Given the description of an element on the screen output the (x, y) to click on. 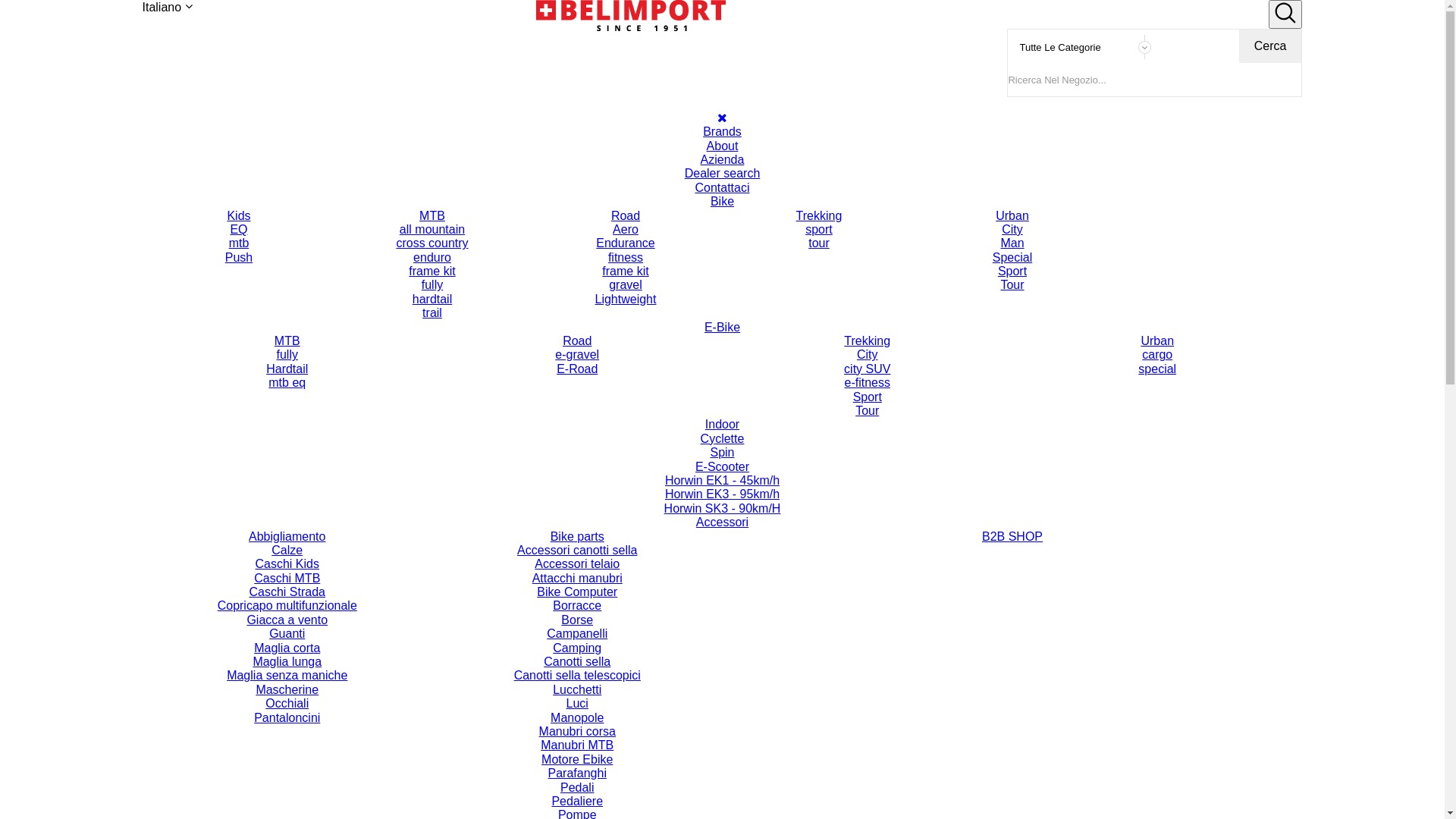
Accessori canotti sella Element type: text (577, 550)
Camping Element type: text (577, 648)
e-fitness Element type: text (867, 382)
Push Element type: text (238, 257)
mtb eq Element type: text (286, 382)
Horwin EK3 - 95km/h Element type: text (722, 494)
Attacchi manubri Element type: text (577, 578)
City Element type: text (1011, 229)
city SUV Element type: text (867, 369)
Caschi Strada Element type: text (286, 592)
Urban Element type: text (1011, 215)
Special Element type: text (1011, 257)
Sport Element type: text (867, 397)
sport Element type: text (819, 229)
Tour Element type: text (1011, 284)
cross country Element type: text (432, 243)
MTB Element type: text (432, 215)
Guanti Element type: text (286, 633)
fully Element type: text (432, 284)
all mountain Element type: text (432, 229)
Tour Element type: text (867, 410)
Canotti sella telescopici Element type: text (577, 675)
Bike parts Element type: text (577, 535)
Azienda Element type: text (721, 159)
Calze Element type: text (286, 550)
Copricapo multifunzionale Element type: text (286, 605)
mtb Element type: text (238, 243)
Pantaloncini Element type: text (286, 717)
Man Element type: text (1011, 243)
gravel Element type: text (624, 284)
Dealer search Element type: text (721, 173)
Cerca Element type: text (1270, 45)
Campanelli Element type: text (577, 633)
Accessori telaio Element type: text (577, 564)
EQ Element type: text (238, 229)
E-Road Element type: text (577, 369)
Road Element type: text (624, 215)
Brands Element type: text (722, 131)
Bike Computer Element type: text (577, 592)
Horwin EK1 - 45km/h Element type: text (722, 480)
Maglia corta Element type: text (286, 648)
Maglia senza maniche Element type: text (286, 675)
Sport Element type: text (1011, 271)
Horwin SK3 - 90km/H Element type: text (722, 508)
Road Element type: text (577, 341)
Caschi MTB Element type: text (286, 578)
fitness Element type: text (624, 257)
Endurance Element type: text (624, 243)
Trekking Element type: text (819, 215)
Manubri MTB Element type: text (577, 745)
Caschi Kids Element type: text (286, 564)
trail Element type: text (432, 313)
Indoor Element type: text (722, 383)
Borracce Element type: text (577, 605)
Mascherine Element type: text (286, 689)
Borse Element type: text (577, 620)
Hardtail Element type: text (286, 369)
Aero Element type: text (624, 229)
E-Bike Element type: text (722, 272)
Abbigliamento Element type: text (286, 535)
Pedali Element type: text (577, 787)
Pedaliere Element type: text (577, 801)
frame kit Element type: text (432, 271)
Canotti sella Element type: text (577, 661)
Urban Element type: text (1157, 341)
special Element type: text (1157, 369)
Trekking Element type: text (867, 341)
Manubri corsa Element type: text (577, 731)
Italiano Element type: text (167, 7)
Luci Element type: text (577, 703)
Lightweight Element type: text (624, 299)
Lucchetti Element type: text (577, 689)
B2B SHOP Element type: text (722, 535)
hardtail Element type: text (432, 299)
Cyclette Element type: text (722, 438)
About Element type: text (722, 146)
Maglia lunga Element type: text (286, 661)
Motore Ebike Element type: text (577, 759)
E-Scooter Element type: text (722, 466)
Bike Element type: text (722, 181)
Manopole Element type: text (577, 717)
enduro Element type: text (432, 257)
Parafanghi Element type: text (577, 773)
frame kit Element type: text (624, 271)
cargo Element type: text (1157, 354)
Spin Element type: text (722, 452)
Kids Element type: text (238, 215)
Accessori Element type: text (722, 522)
Contattaci Element type: text (721, 187)
Giacca a vento Element type: text (286, 620)
MTB Element type: text (286, 341)
tour Element type: text (819, 243)
City Element type: text (867, 354)
e-gravel Element type: text (577, 354)
fully Element type: text (286, 354)
Occhiali Element type: text (286, 703)
